Given the description of an element on the screen output the (x, y) to click on. 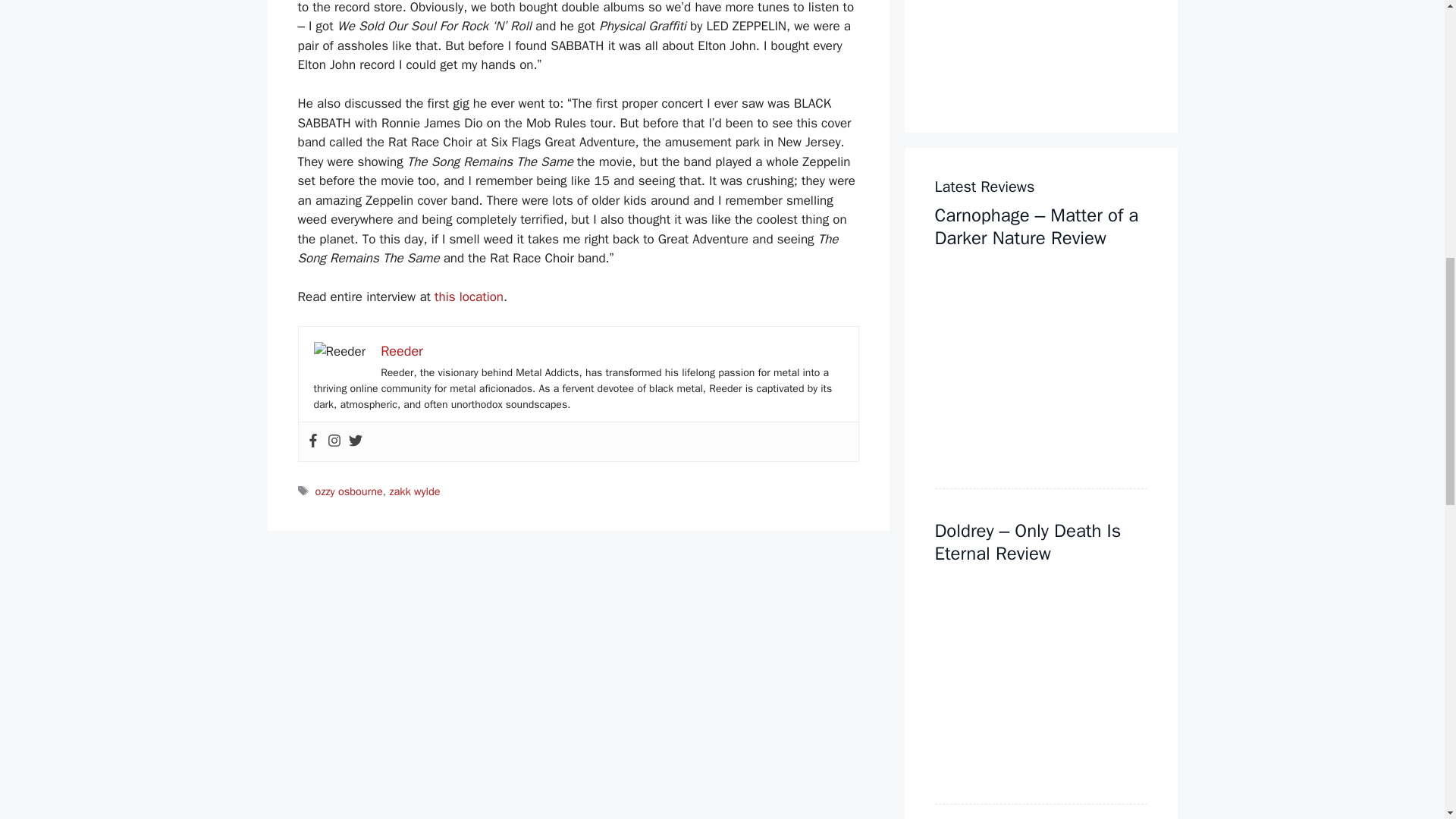
ozzy osbourne (348, 490)
Reeder (401, 351)
this location (468, 296)
zakk wylde (413, 490)
